Given the description of an element on the screen output the (x, y) to click on. 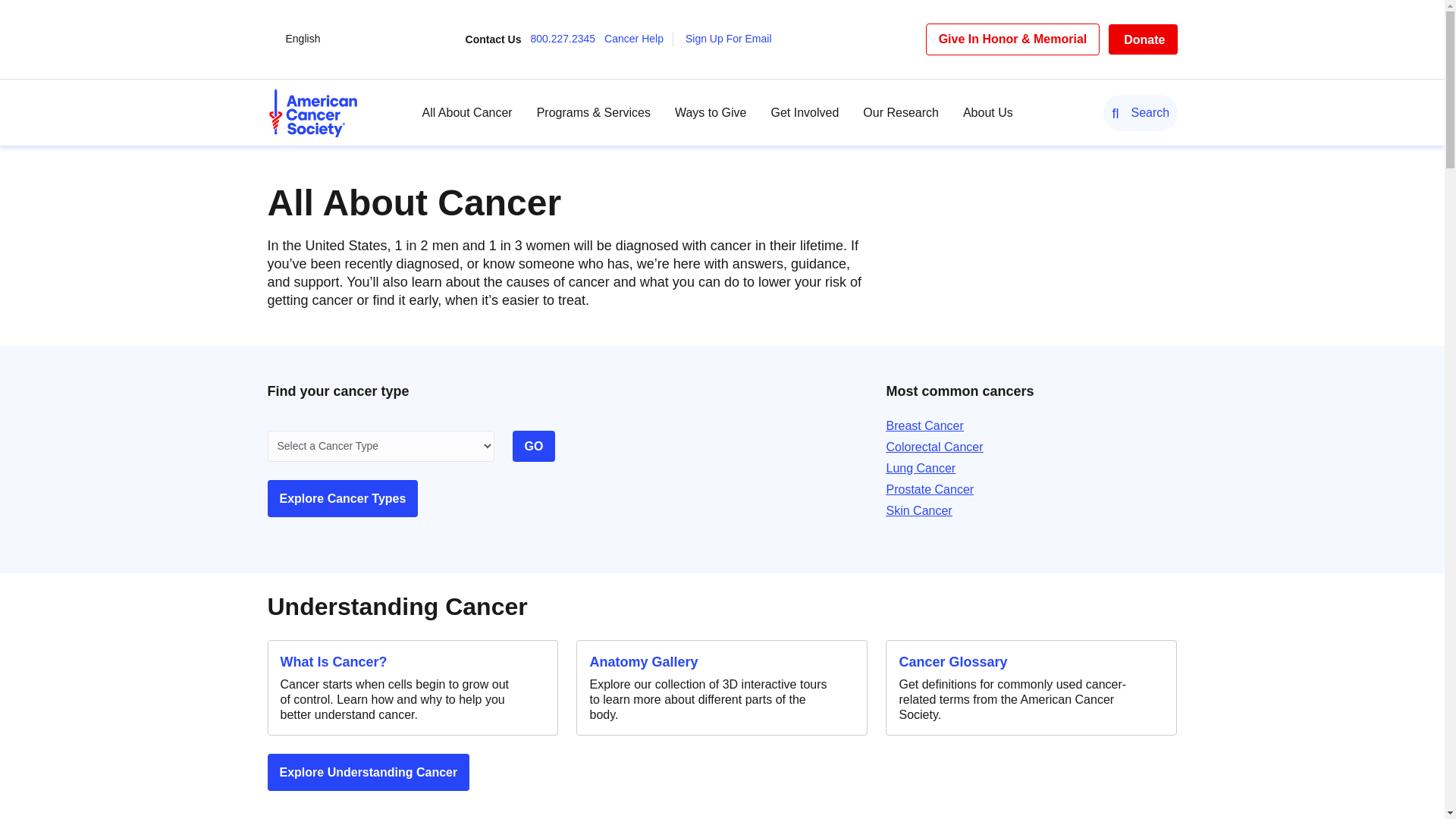
800.227.2345 (566, 39)
Donate (1142, 39)
Colorectal Cancer (933, 446)
Sign Up For Email (732, 39)
Skin Cancer (918, 510)
English (302, 39)
Breast Cancer (923, 425)
Lung Cancer (920, 468)
Cancer Help (638, 39)
All About Cancer (467, 111)
